Given the description of an element on the screen output the (x, y) to click on. 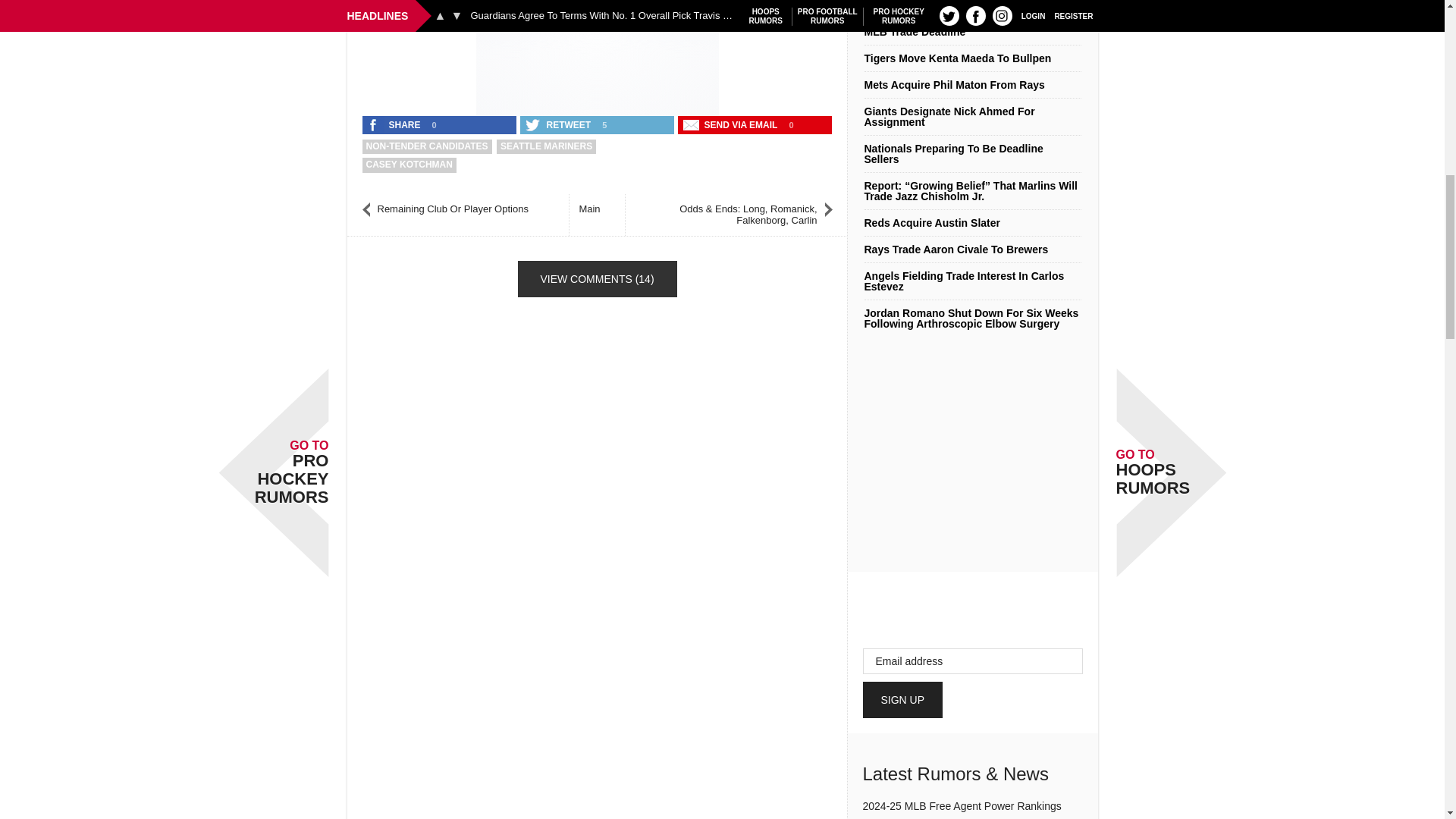
3rd party ad content (597, 54)
Retweet 'Non-Tender Candidate: Casey Kotchman' on Twitter (558, 125)
Send Non-Tender Candidate: Casey Kotchman with an email (732, 125)
Share 'Non-Tender Candidate: Casey Kotchman' on Facebook (395, 125)
Sign Up (903, 699)
